Given the description of an element on the screen output the (x, y) to click on. 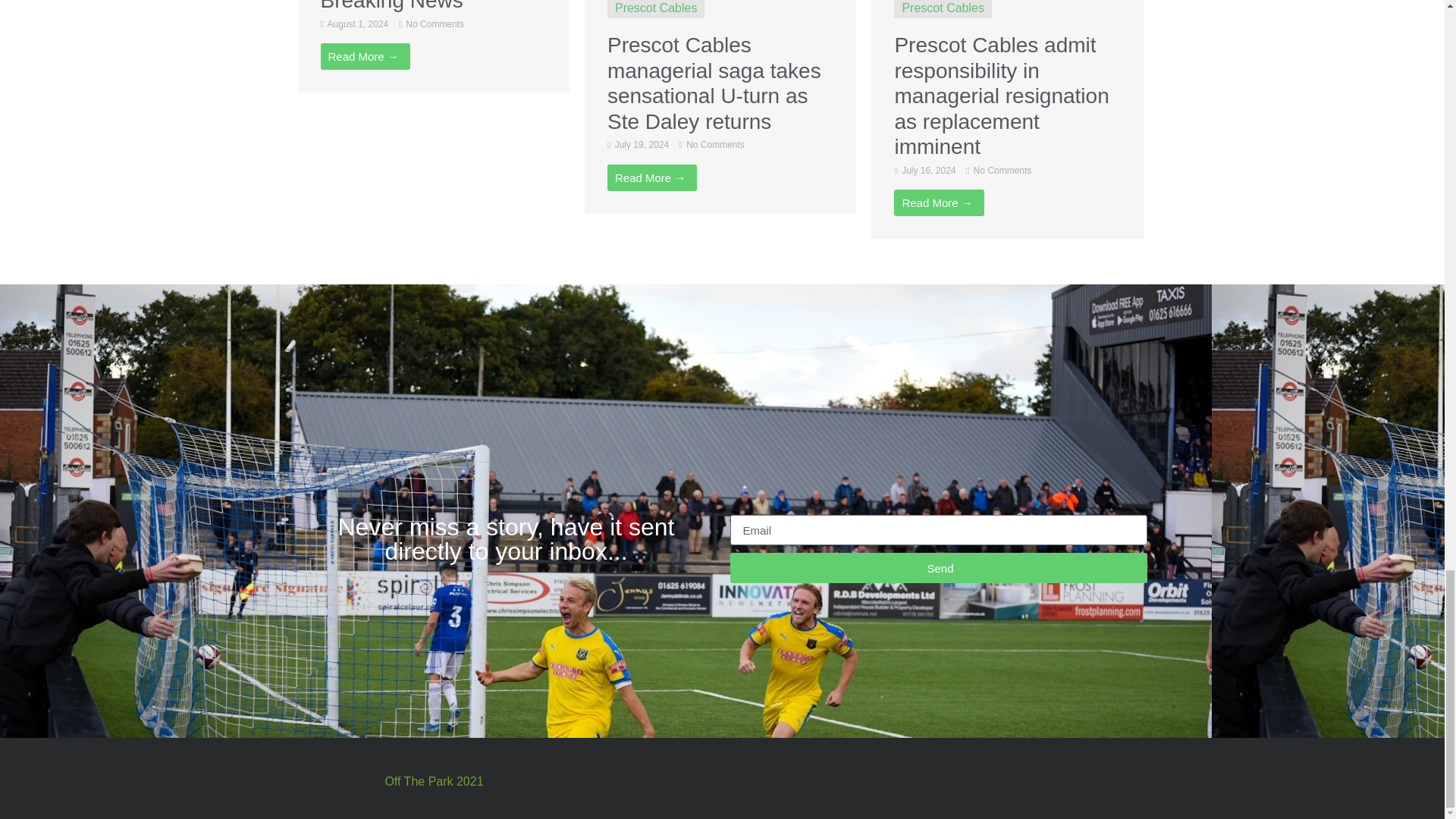
Breaking News (391, 6)
Prescot Cables (942, 7)
Prescot Cables (655, 7)
Send (938, 567)
